Given the description of an element on the screen output the (x, y) to click on. 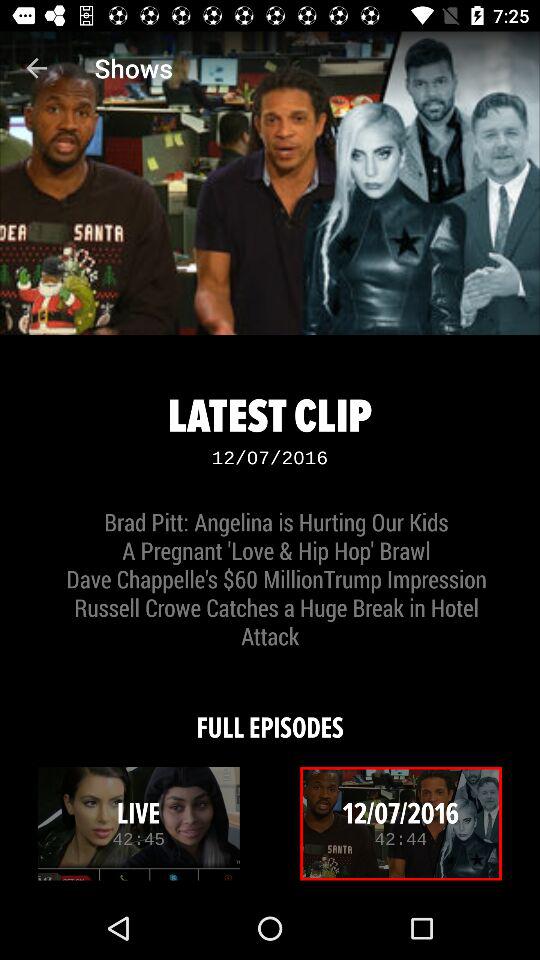
choose the item below the brad pitt angelina icon (270, 713)
